Given the description of an element on the screen output the (x, y) to click on. 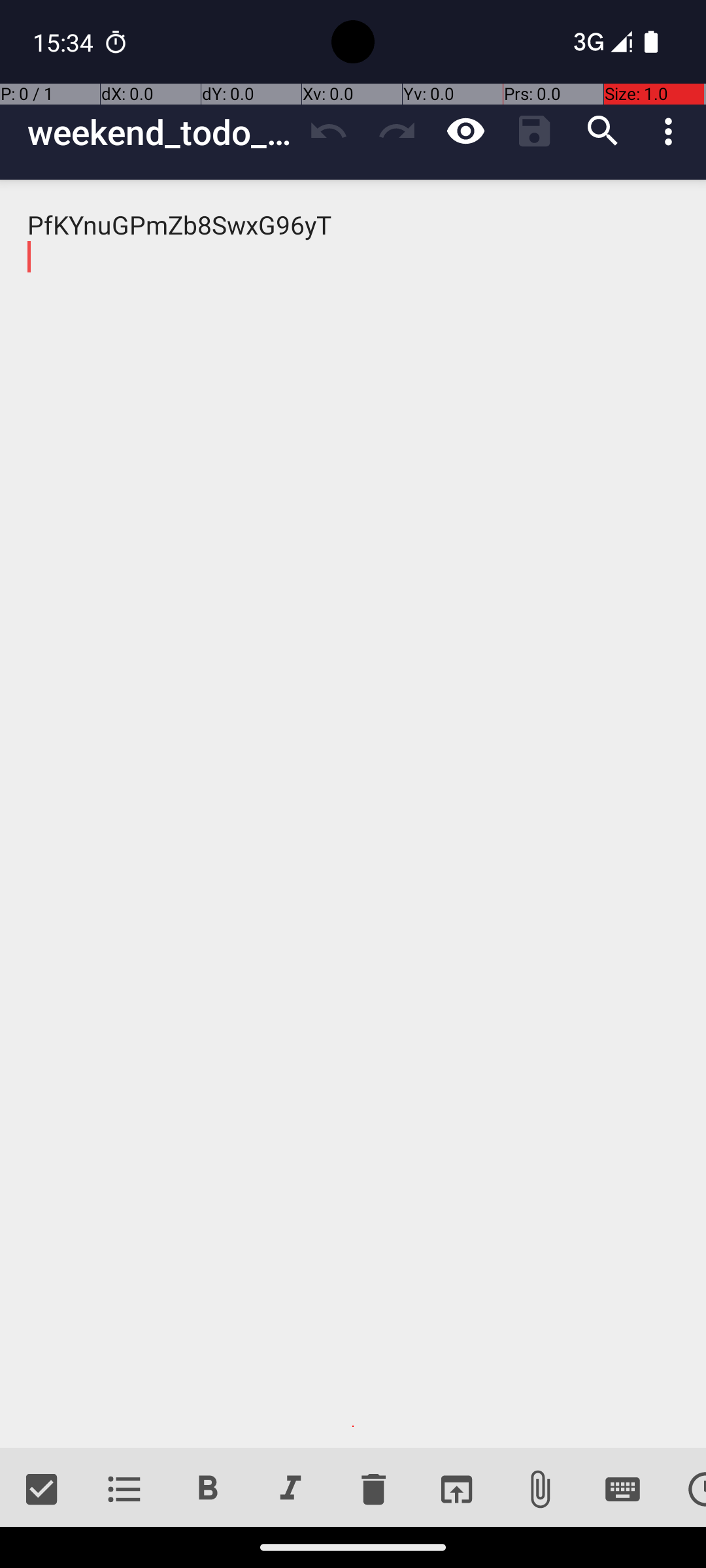
weekend_todo_list_Rx78 Element type: android.widget.TextView (160, 131)
PfKYnuGPmZb8SwxG96yT
 Element type: android.widget.EditText (353, 813)
